Given the description of an element on the screen output the (x, y) to click on. 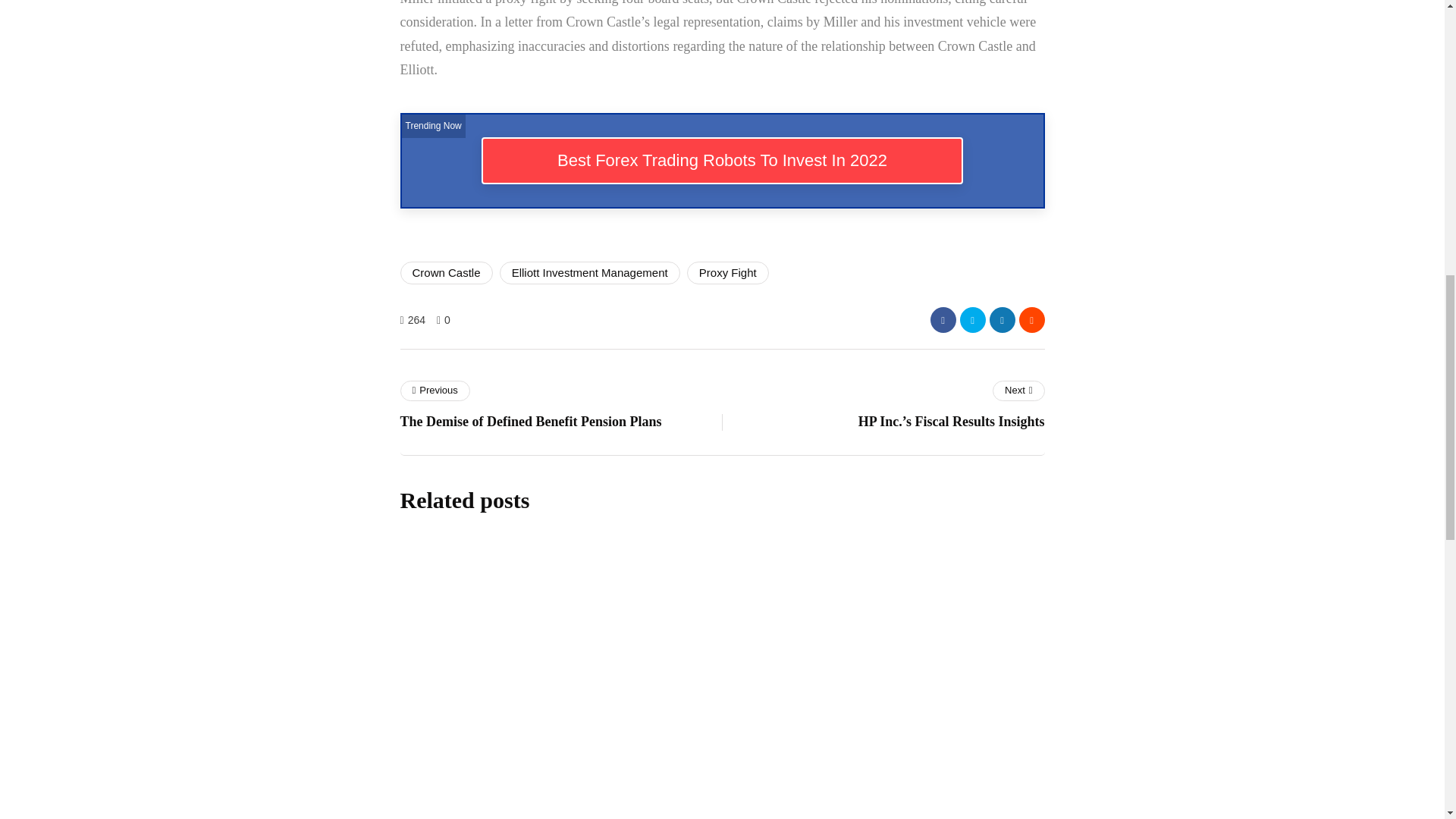
Best Forex Trading Robots To Invest In 2022 (721, 160)
Share on Reddit (1032, 319)
Tweet this (972, 319)
Share with Facebook (942, 319)
Share with LinkedIn (1001, 319)
